Given the description of an element on the screen output the (x, y) to click on. 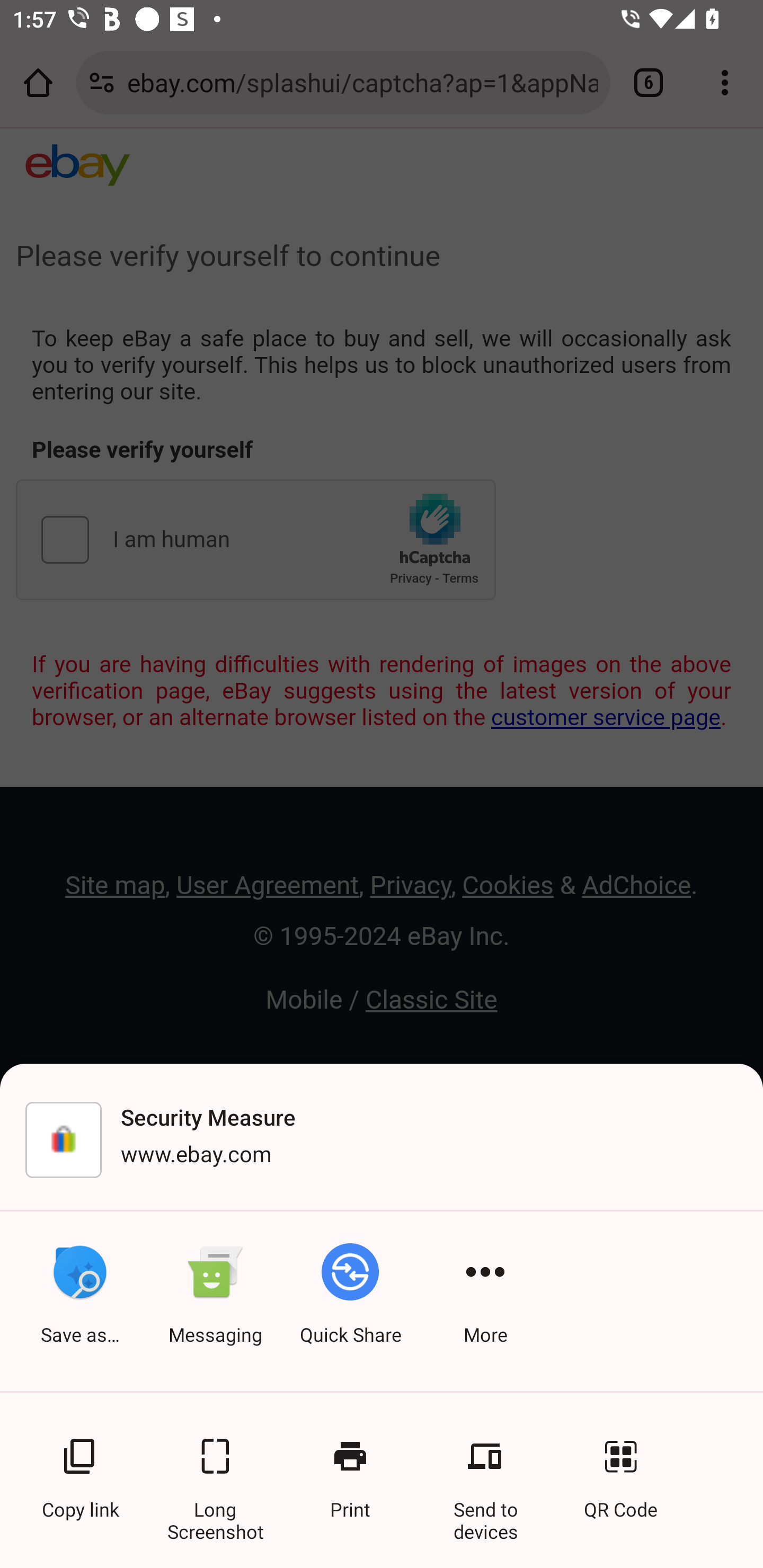
Save as… (80, 1301)
Messaging (215, 1301)
Quick Share (350, 1301)
More (485, 1301)
Copy link (80, 1468)
Long Screenshot (215, 1468)
Print (350, 1468)
Send to devices (485, 1468)
QR Code (620, 1468)
